Given the description of an element on the screen output the (x, y) to click on. 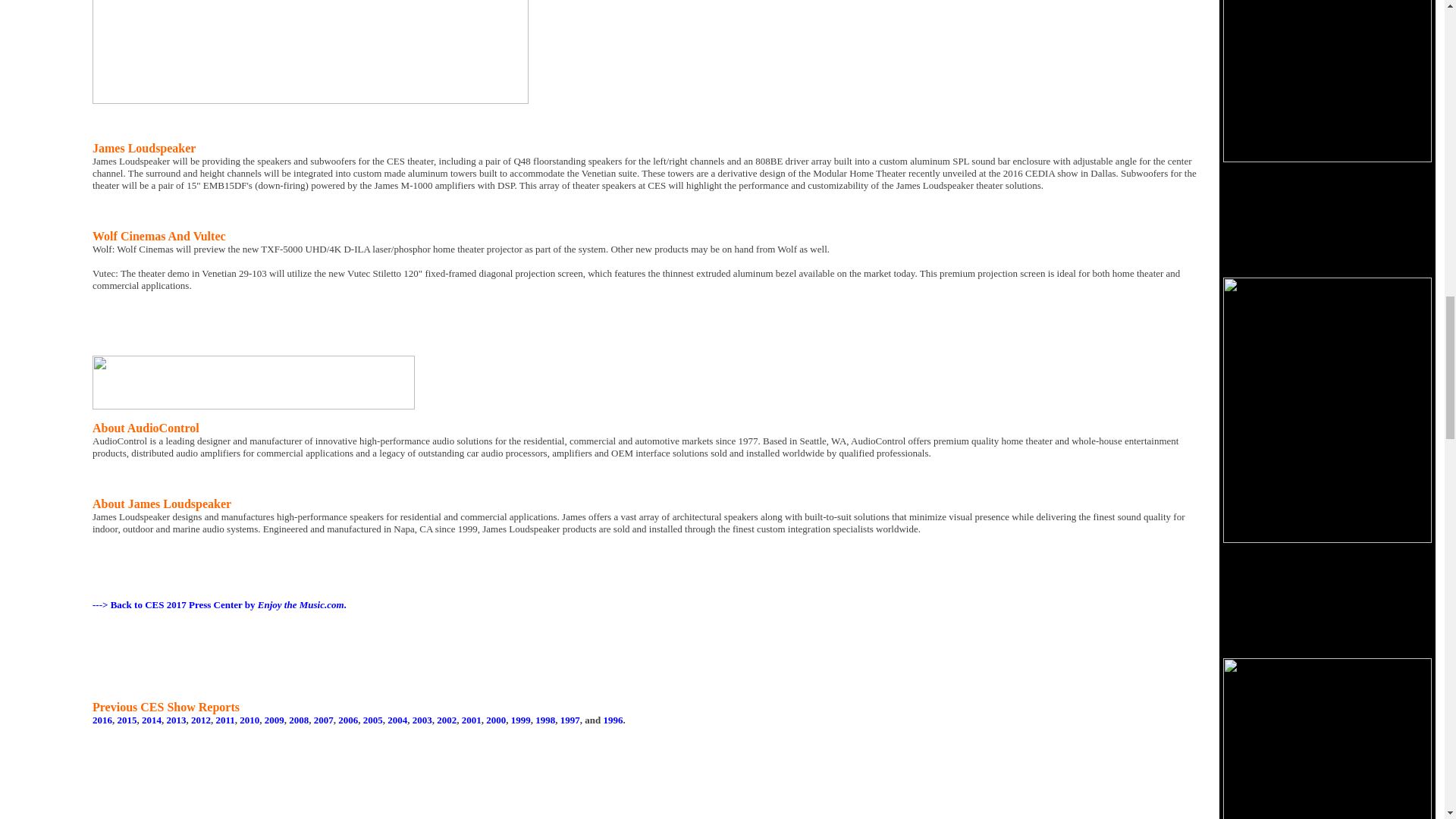
2012 (200, 719)
2004 (397, 719)
2011 (224, 719)
2007 (323, 719)
2016 (102, 719)
2005 (372, 719)
2006 (347, 719)
1999 (521, 719)
2008 (298, 719)
2003 (422, 719)
2009 (273, 719)
2001 (471, 719)
1998 (544, 719)
2013 (176, 719)
1997 (569, 719)
